Given the description of an element on the screen output the (x, y) to click on. 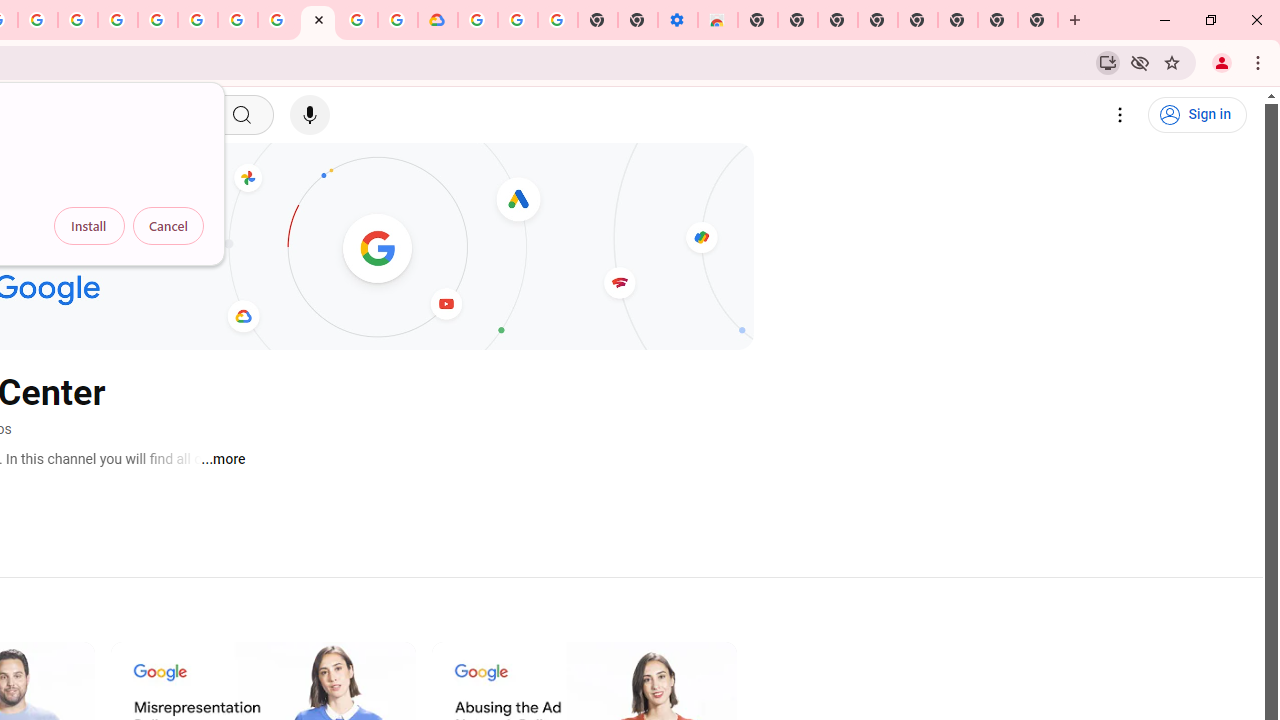
Browse the Google Chrome Community - Google Chrome Community (397, 20)
Create your Google Account (37, 20)
Android TV Policies and Guidelines - Transparency Center (278, 20)
